Given the description of an element on the screen output the (x, y) to click on. 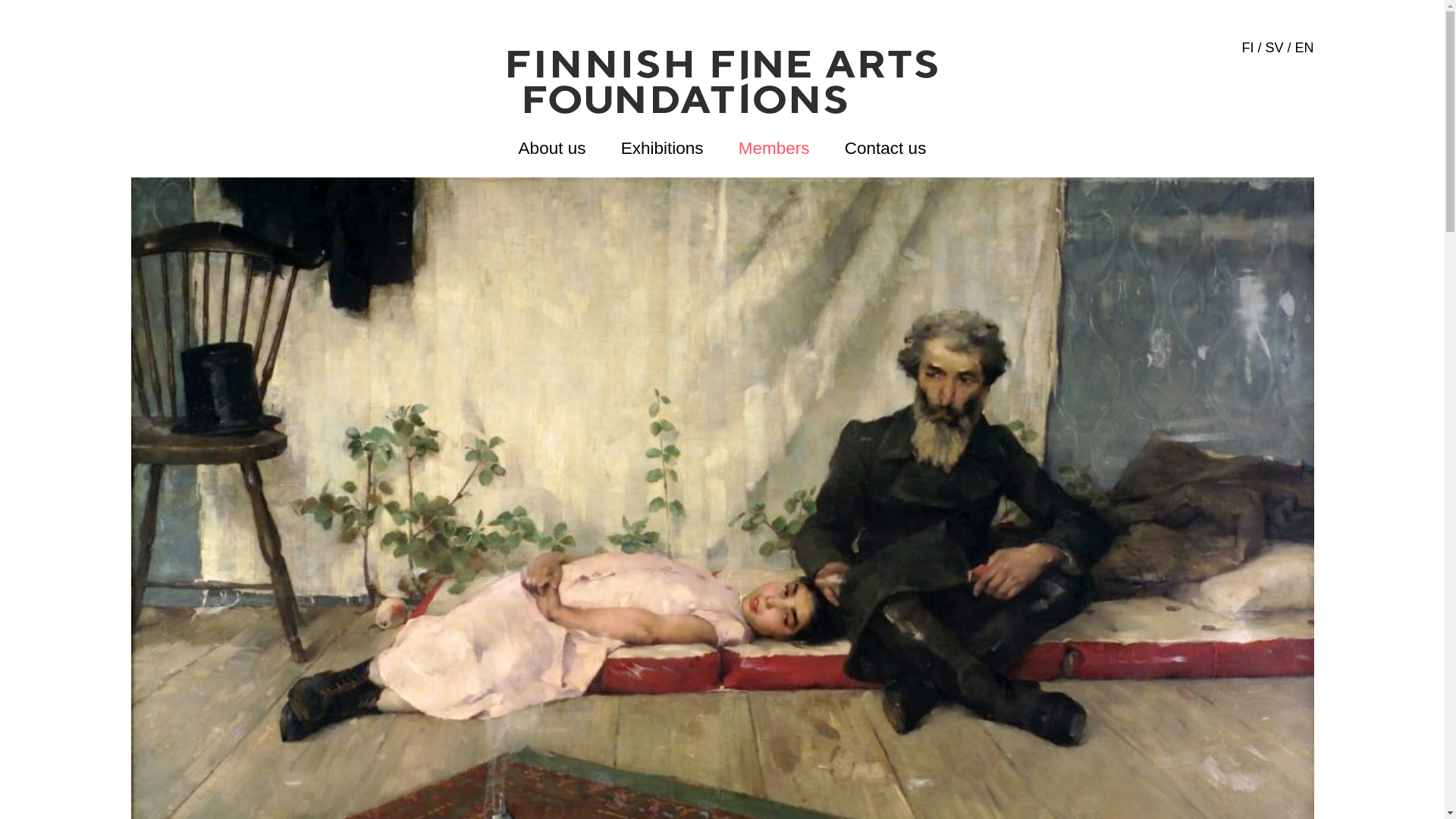
About us (552, 147)
Members (773, 147)
Exhibitions (662, 147)
Contact us (885, 147)
SV (1273, 47)
EN (1303, 47)
